Given the description of an element on the screen output the (x, y) to click on. 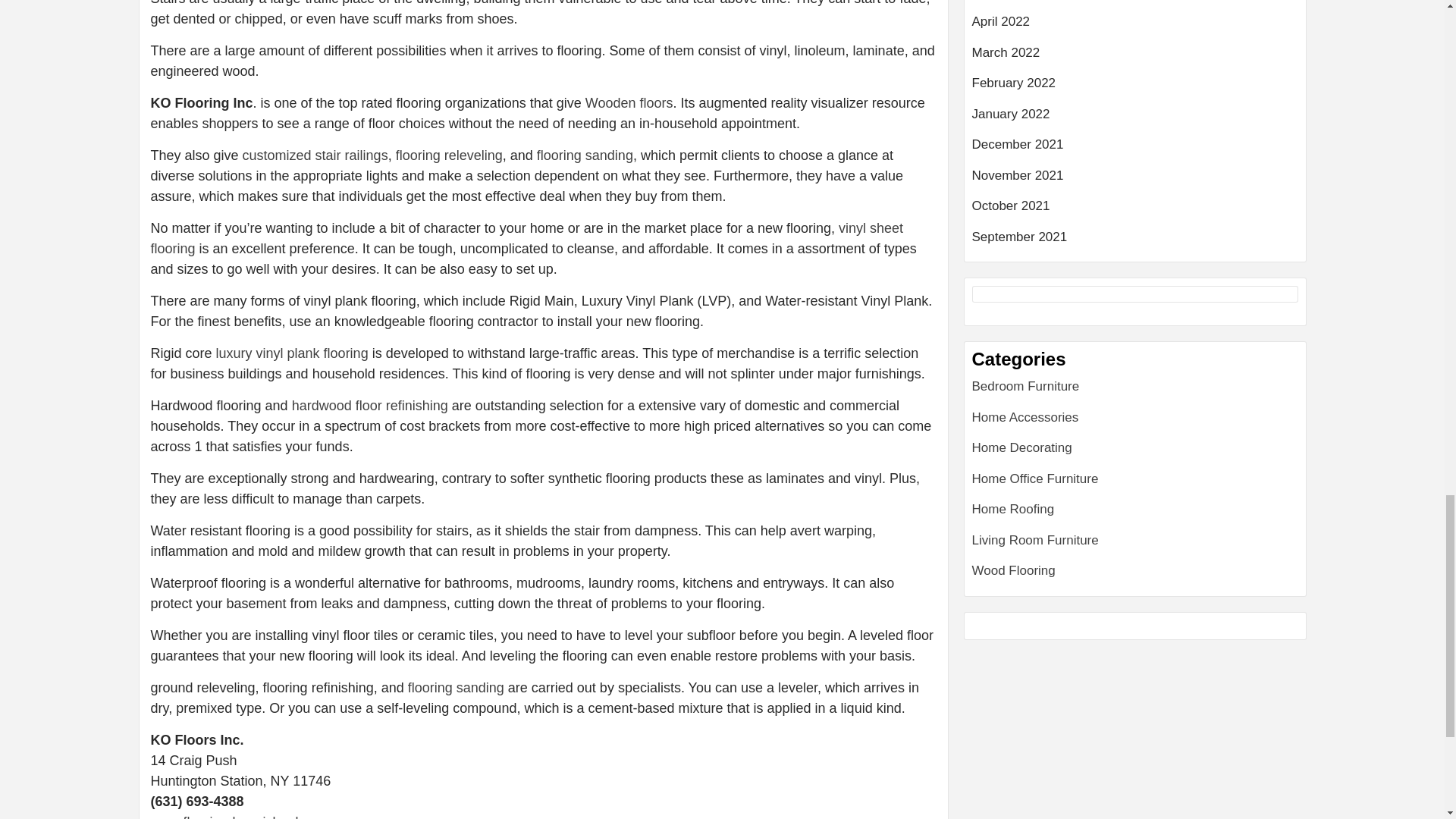
www.flooring-long-island.com (238, 816)
flooring sanding (585, 155)
vinyl sheet flooring (525, 238)
customized stair railings (313, 155)
Wooden floors (628, 102)
hardwood floor refinishing (370, 405)
flooring sanding (455, 687)
luxury vinyl plank flooring (291, 353)
flooring releveling (449, 155)
